Given the description of an element on the screen output the (x, y) to click on. 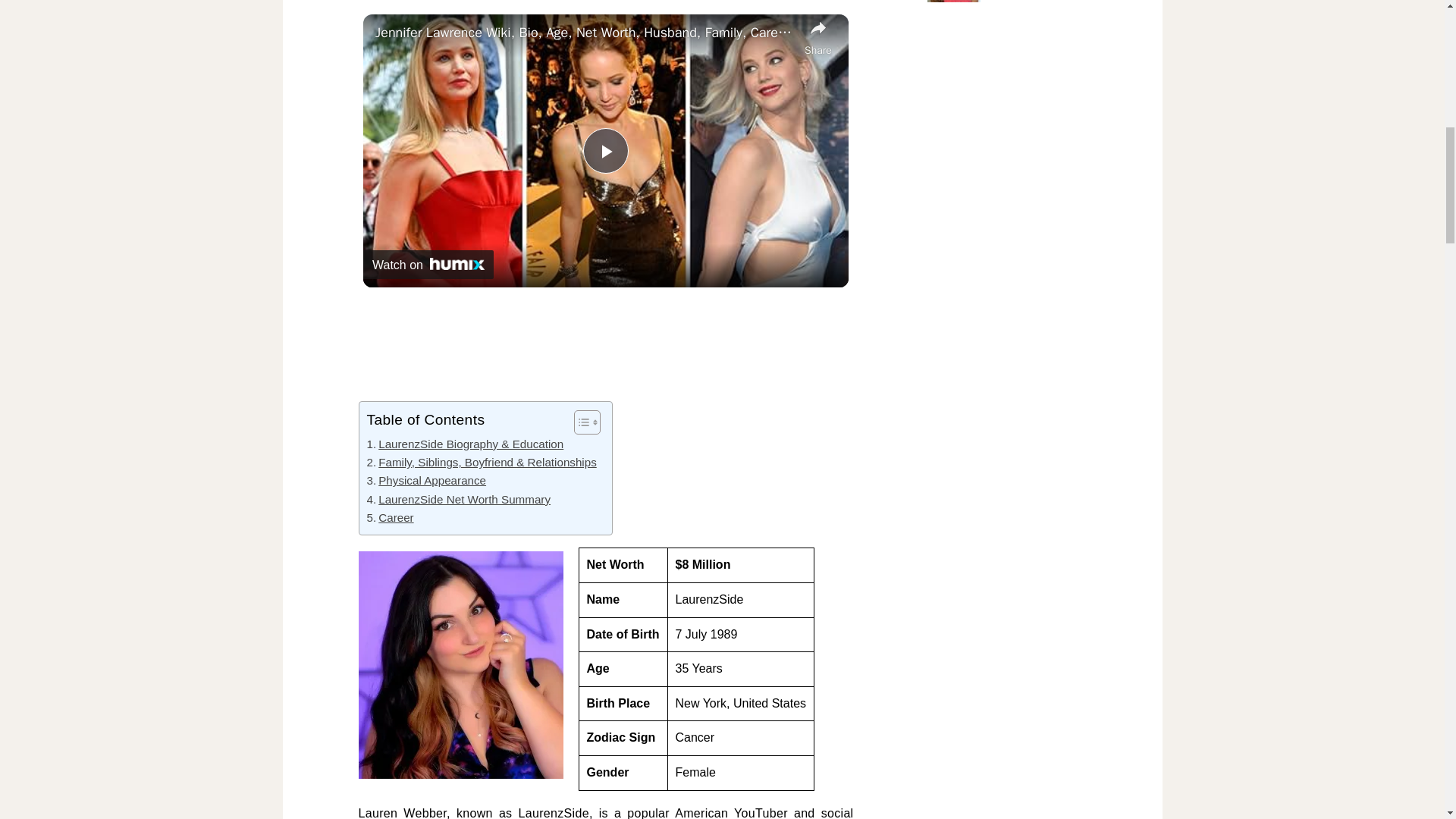
LaurenzSide Net Worth Summary (458, 499)
Watch on (427, 264)
Share (818, 37)
share (818, 37)
Play Video (605, 150)
Play Video (605, 150)
Physical Appearance (426, 480)
Career (389, 517)
